Given the description of an element on the screen output the (x, y) to click on. 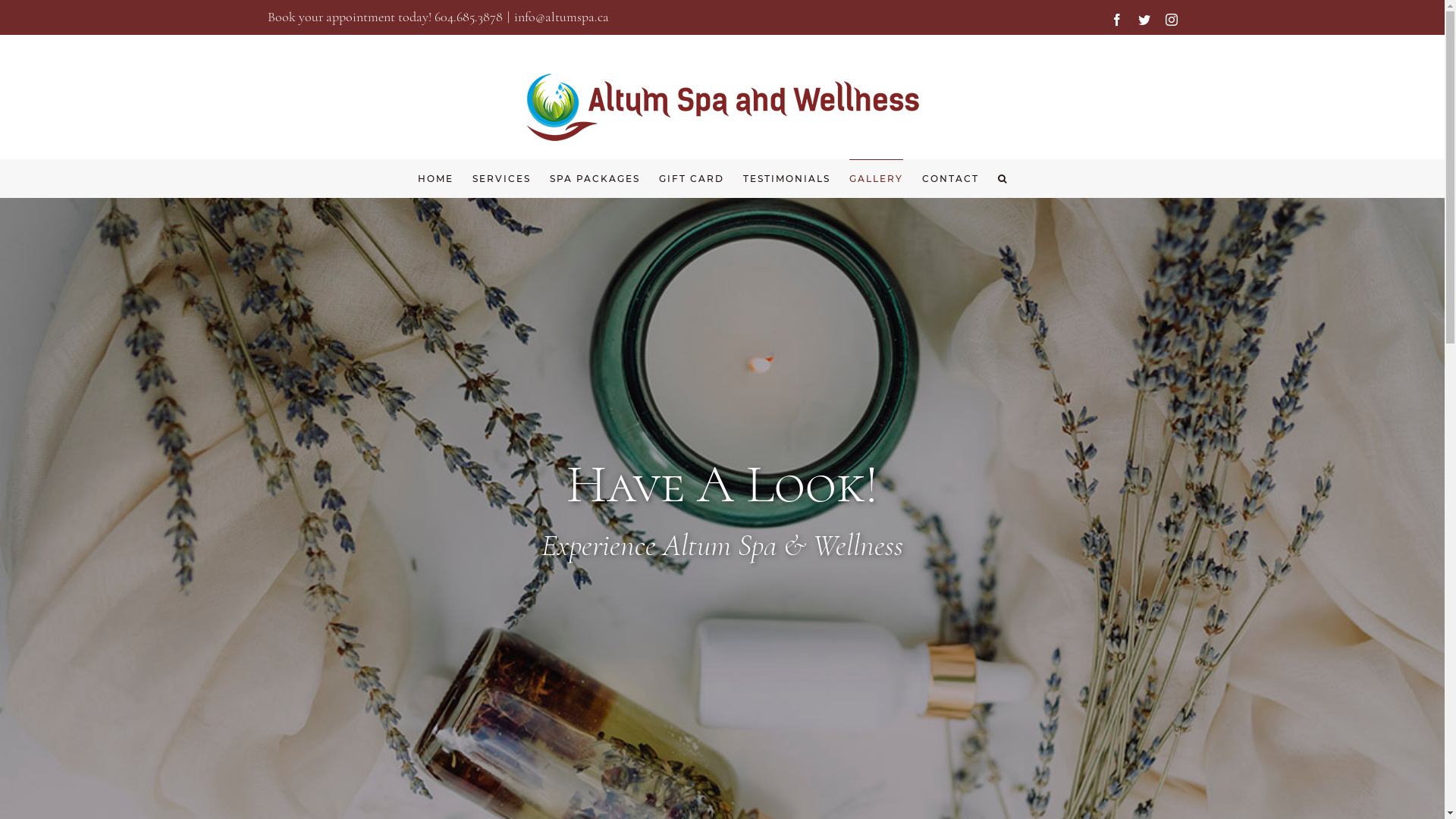
SERVICES Element type: text (501, 178)
HOME Element type: text (435, 178)
CONTACT Element type: text (950, 178)
Facebook Element type: text (1116, 19)
Instagram Element type: text (1170, 19)
GALLERY Element type: text (876, 178)
info@altumspa.ca Element type: text (561, 16)
Twitter Element type: text (1143, 19)
Search Element type: hover (1002, 178)
SPA PACKAGES Element type: text (594, 178)
GIFT CARD Element type: text (691, 178)
TESTIMONIALS Element type: text (786, 178)
